Given the description of an element on the screen output the (x, y) to click on. 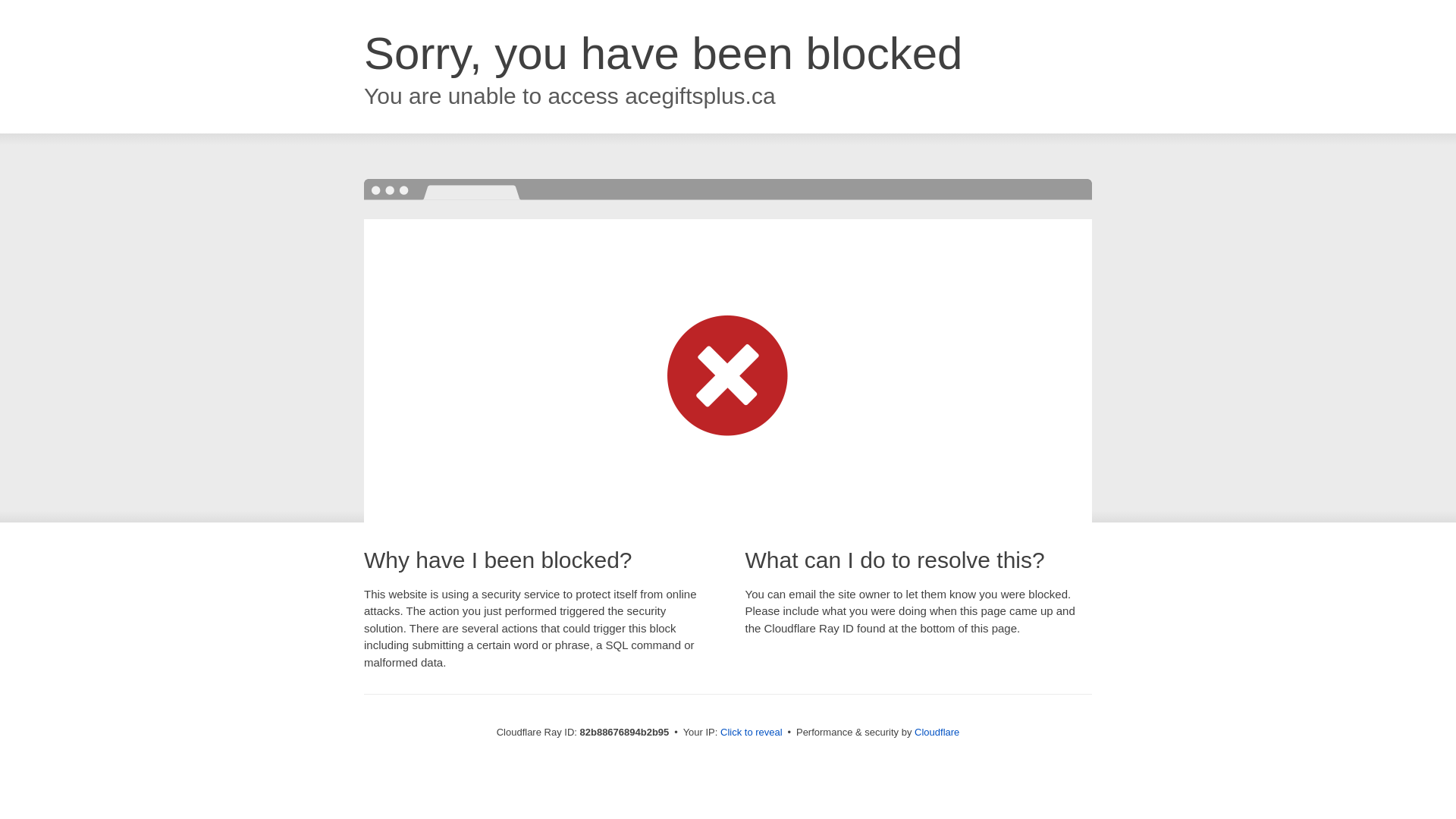
Cloudflare Element type: text (936, 731)
Click to reveal Element type: text (751, 732)
